Given the description of an element on the screen output the (x, y) to click on. 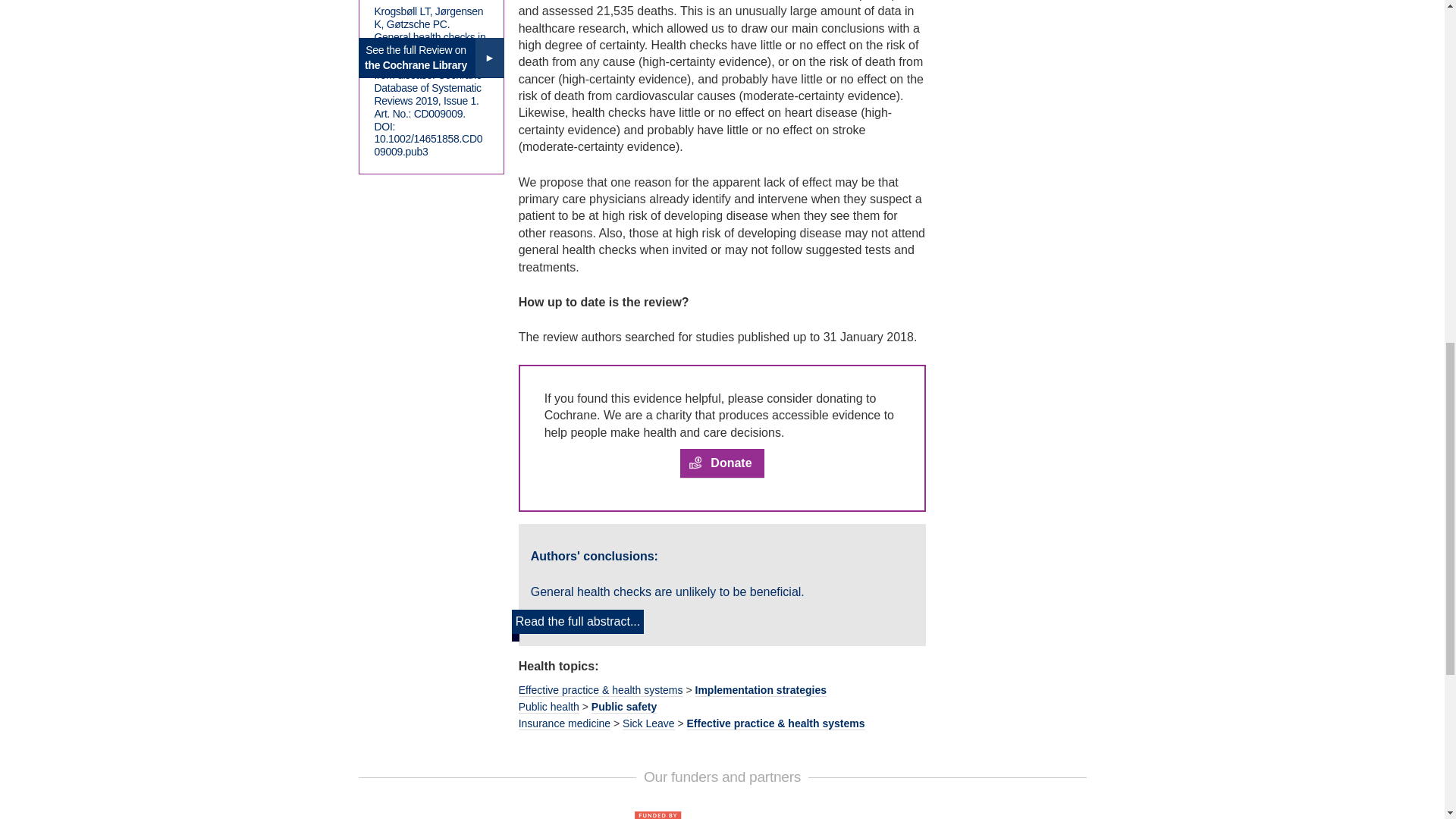
Public safety (623, 707)
National Institute for Health and Care Research (721, 814)
Insurance medicine (564, 723)
Sick Leave (648, 723)
Public health (548, 707)
Implementation strategies (760, 689)
Donate (720, 463)
